Given the description of an element on the screen output the (x, y) to click on. 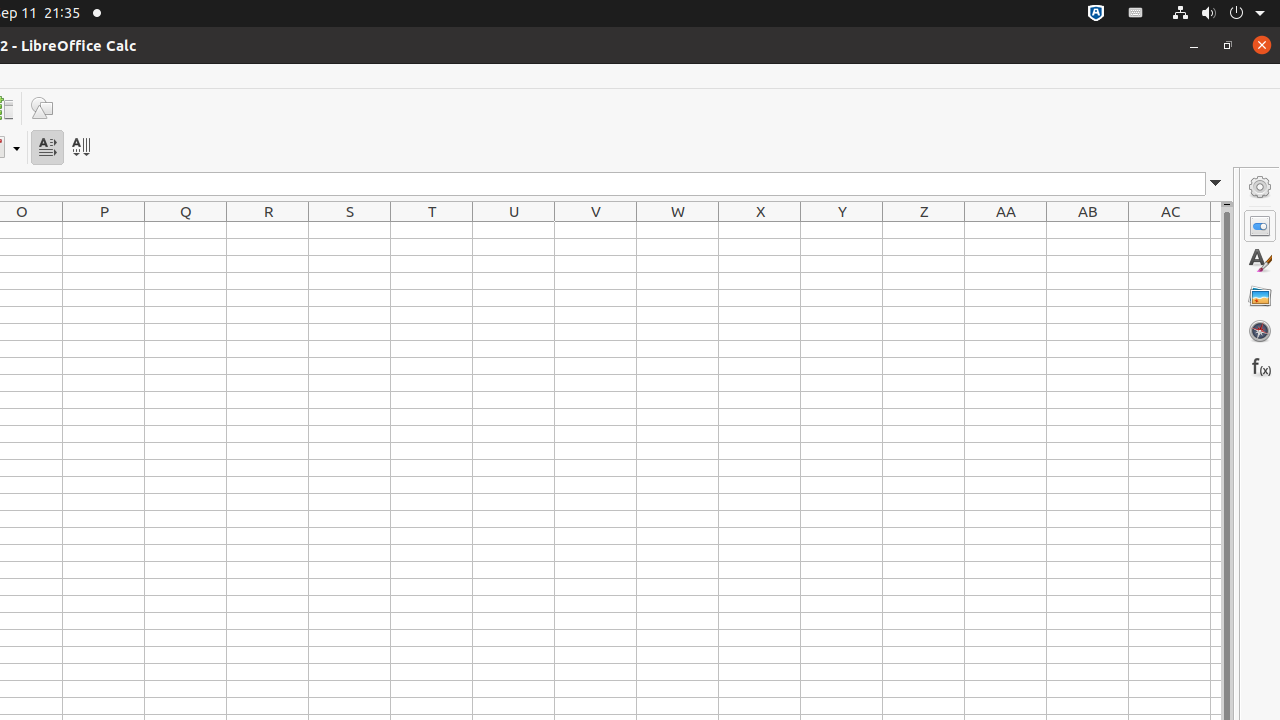
AB1 Element type: table-cell (1088, 230)
Navigator Element type: radio-button (1260, 331)
V1 Element type: table-cell (596, 230)
U1 Element type: table-cell (514, 230)
Q1 Element type: table-cell (186, 230)
